Given the description of an element on the screen output the (x, y) to click on. 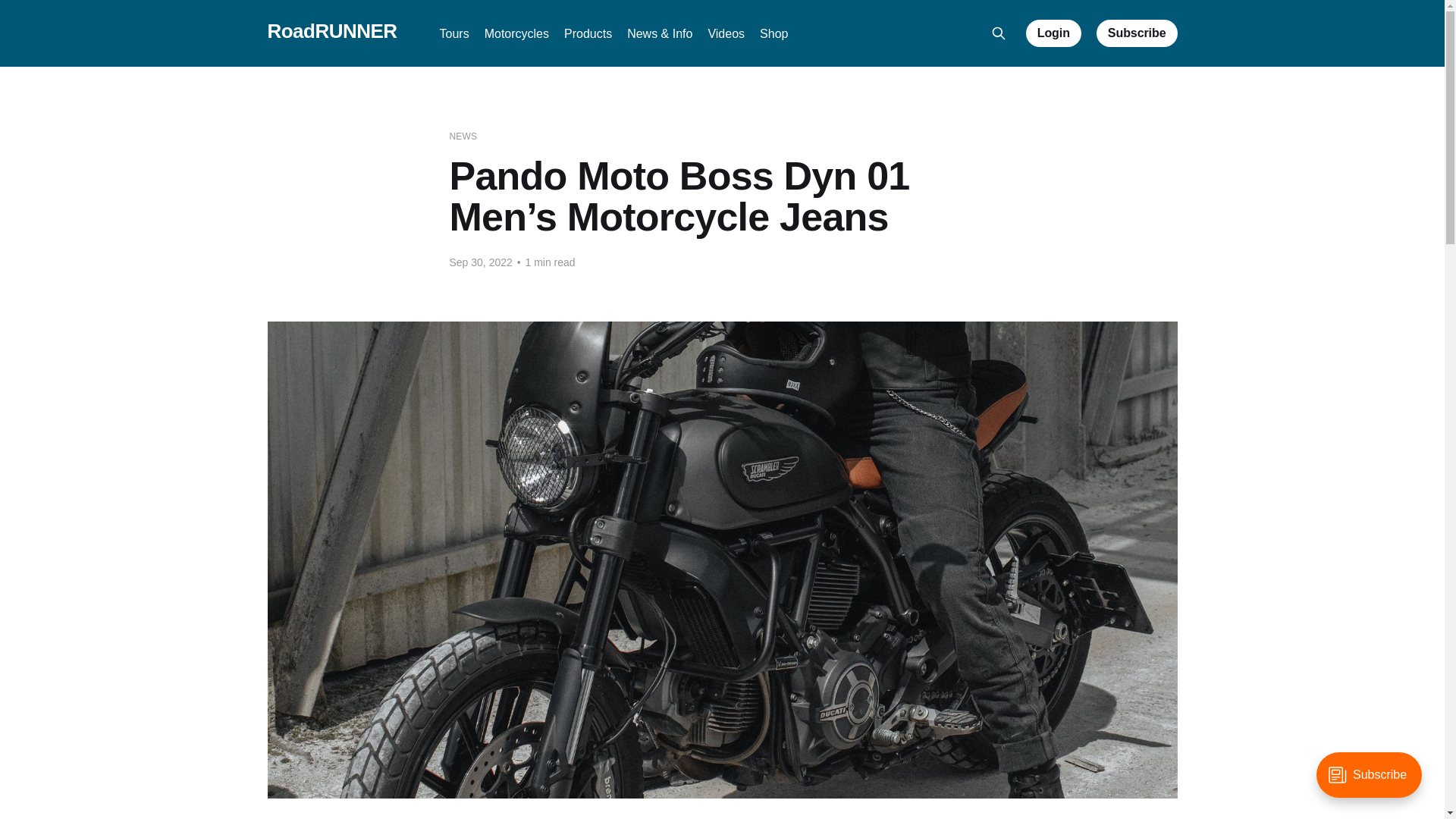
RoadRUNNER (331, 31)
NEWS (462, 136)
Products (587, 33)
Videos (725, 33)
Tours (453, 33)
Subscribe (1136, 33)
Shop (773, 33)
Motorcycles (516, 33)
Login (1053, 33)
